Given the description of an element on the screen output the (x, y) to click on. 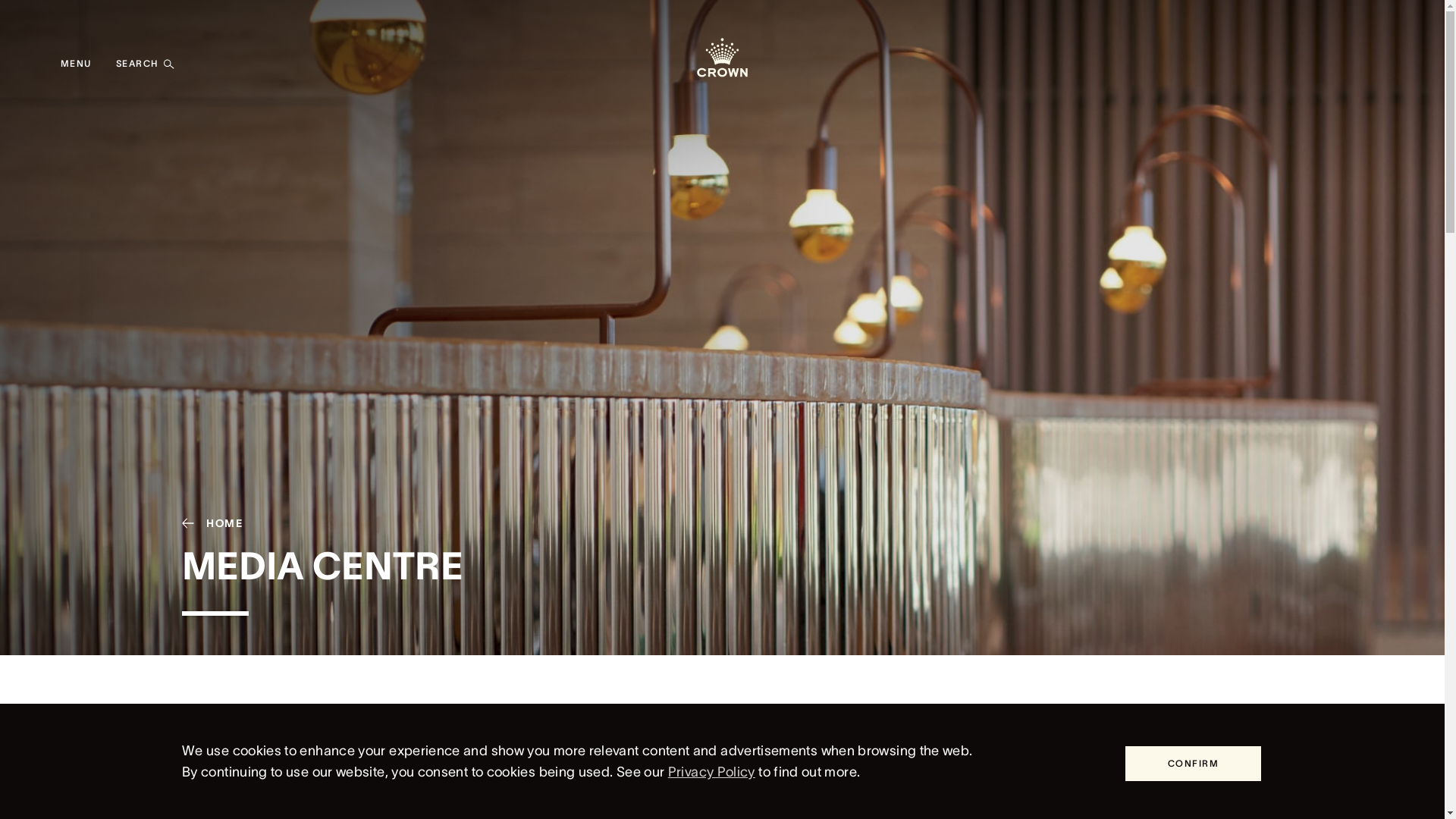
HOME Element type: text (206, 523)
Privacy Policy Element type: text (711, 771)
CONFIRM Element type: text (1193, 763)
MENU Element type: text (75, 63)
SEARCH Element type: text (145, 63)
